Given the description of an element on the screen output the (x, y) to click on. 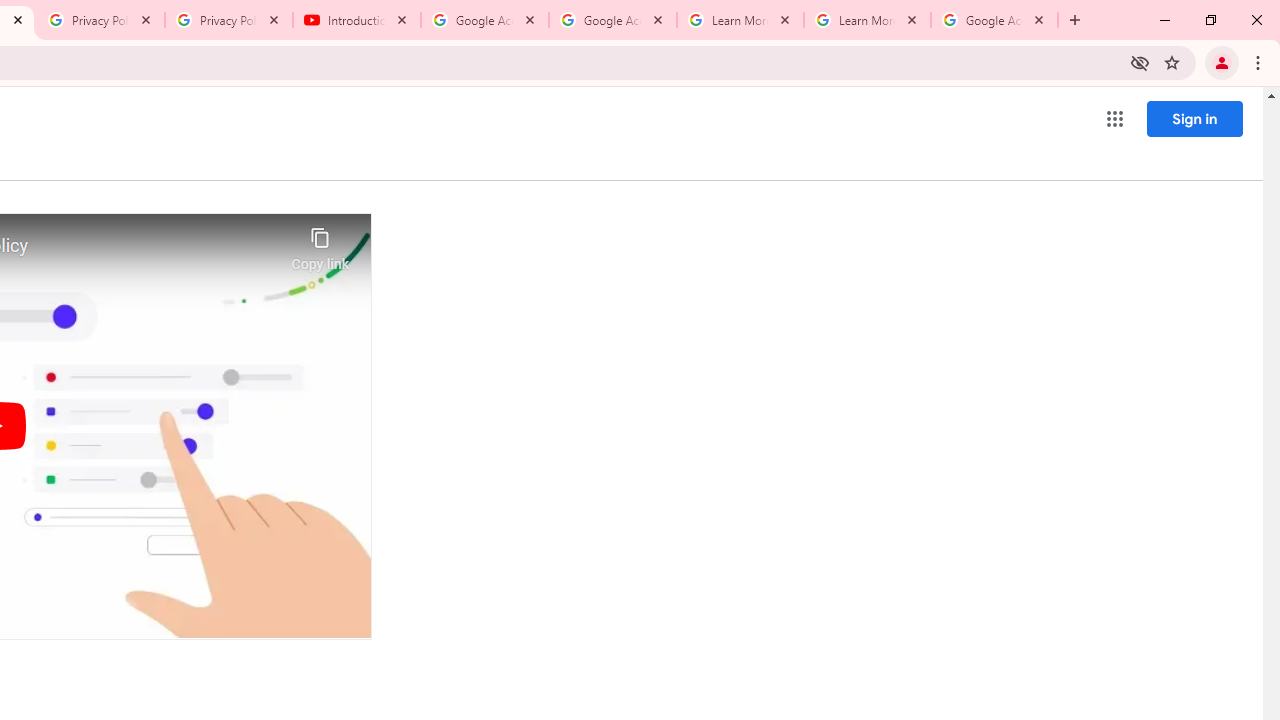
Copy link (319, 244)
Introduction | Google Privacy Policy - YouTube (357, 20)
Google Account Help (485, 20)
